Given the description of an element on the screen output the (x, y) to click on. 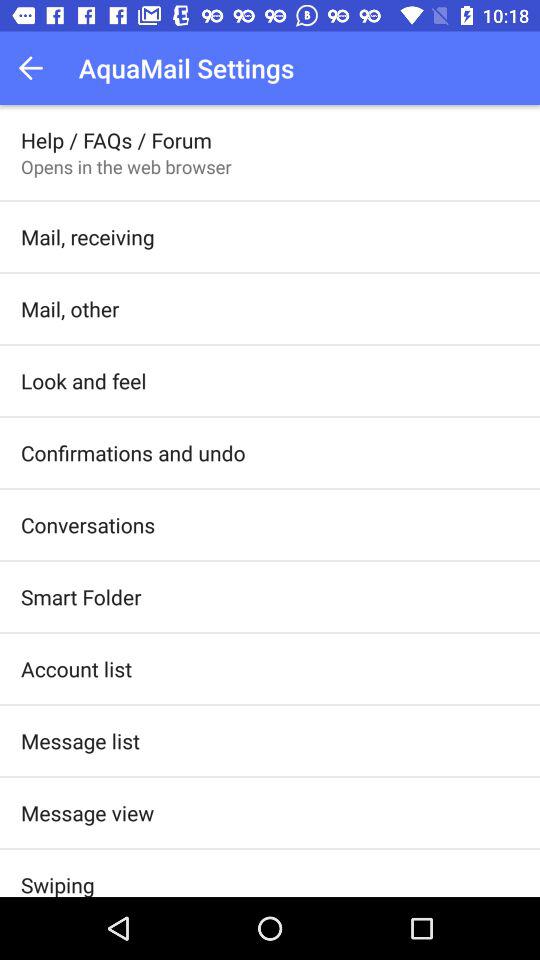
jump until the message list item (80, 740)
